Given the description of an element on the screen output the (x, y) to click on. 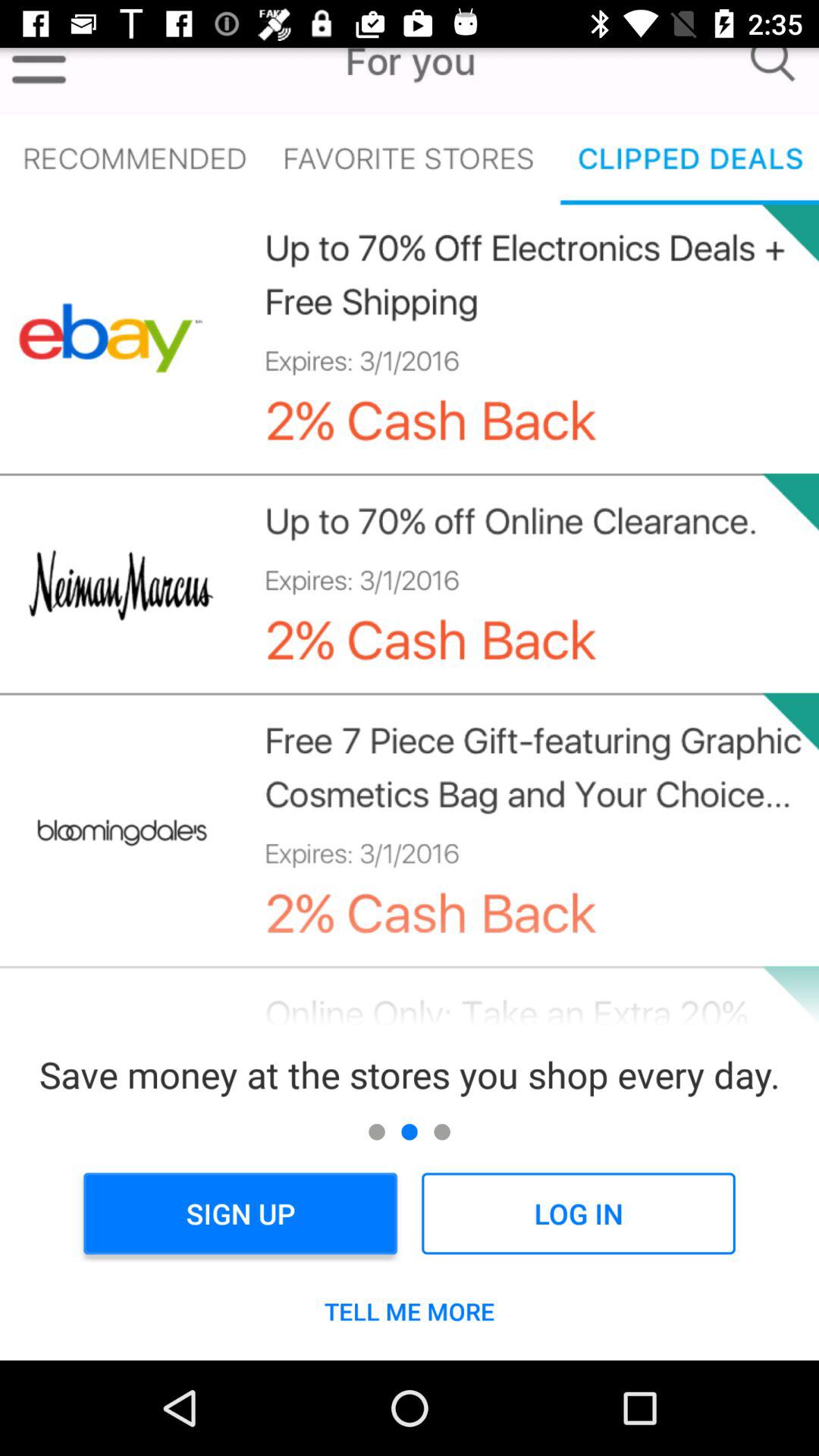
jump to the tell me more icon (409, 1311)
